Given the description of an element on the screen output the (x, y) to click on. 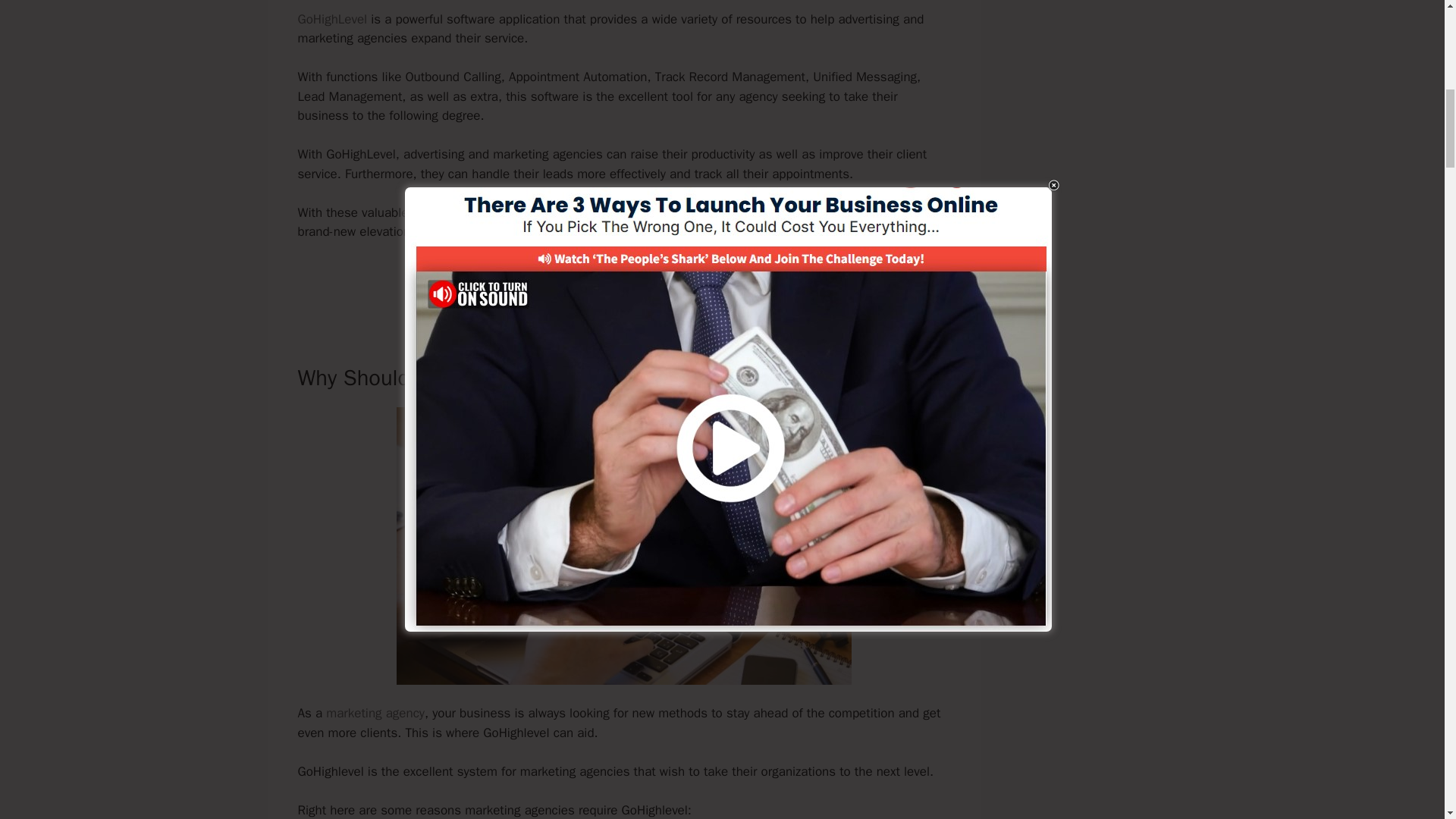
GoHighLevel (331, 19)
Visit Here To Watch HighLevel In Action (623, 283)
marketing agency (375, 713)
